Given the description of an element on the screen output the (x, y) to click on. 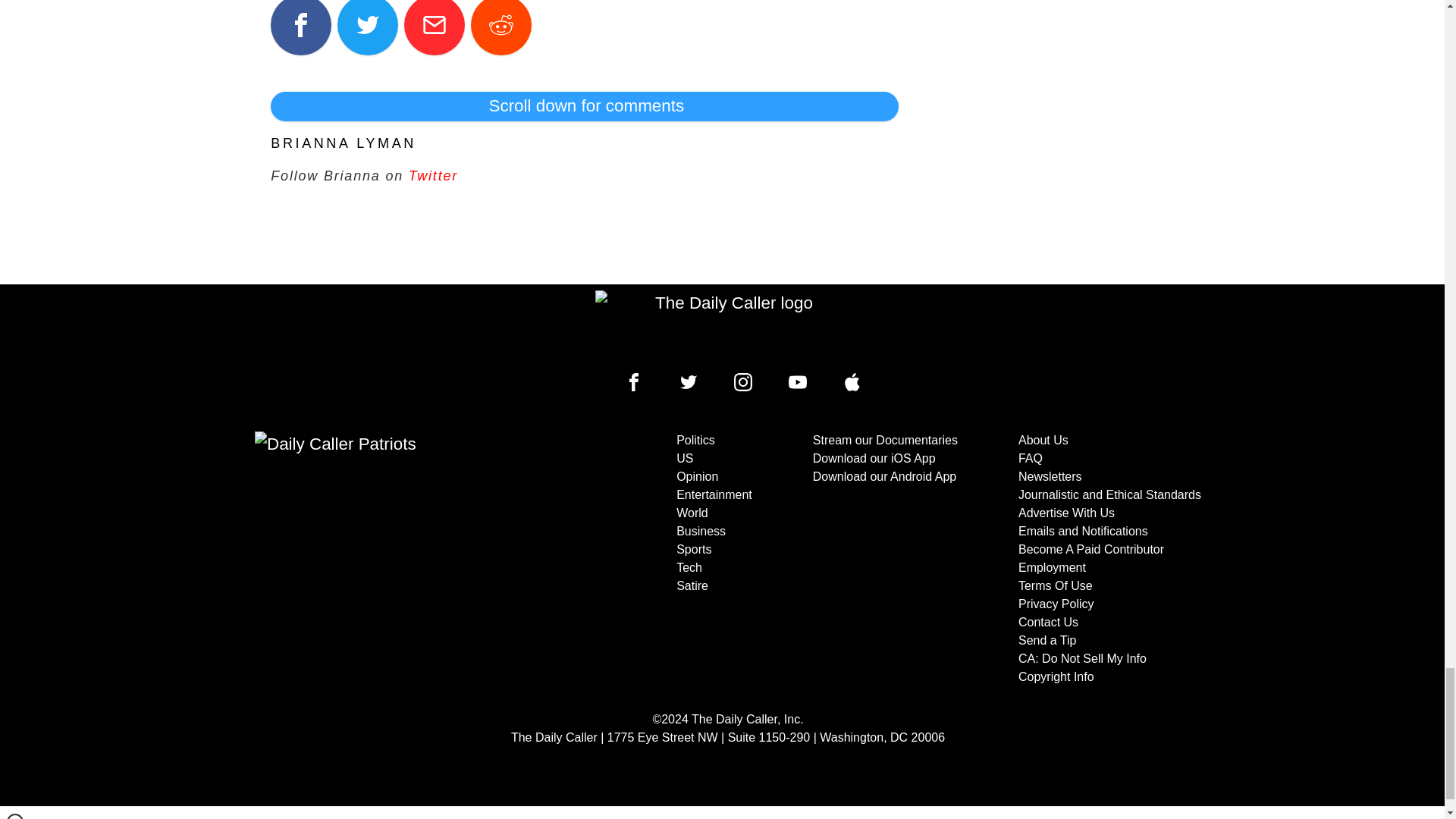
Subscribe to The Daily Caller (405, 558)
Daily Caller YouTube (797, 382)
Daily Caller YouTube (852, 382)
Daily Caller Instagram (742, 382)
To home page (727, 325)
Daily Caller Twitter (688, 382)
Daily Caller Facebook (633, 382)
Scroll down for comments (584, 105)
